Given the description of an element on the screen output the (x, y) to click on. 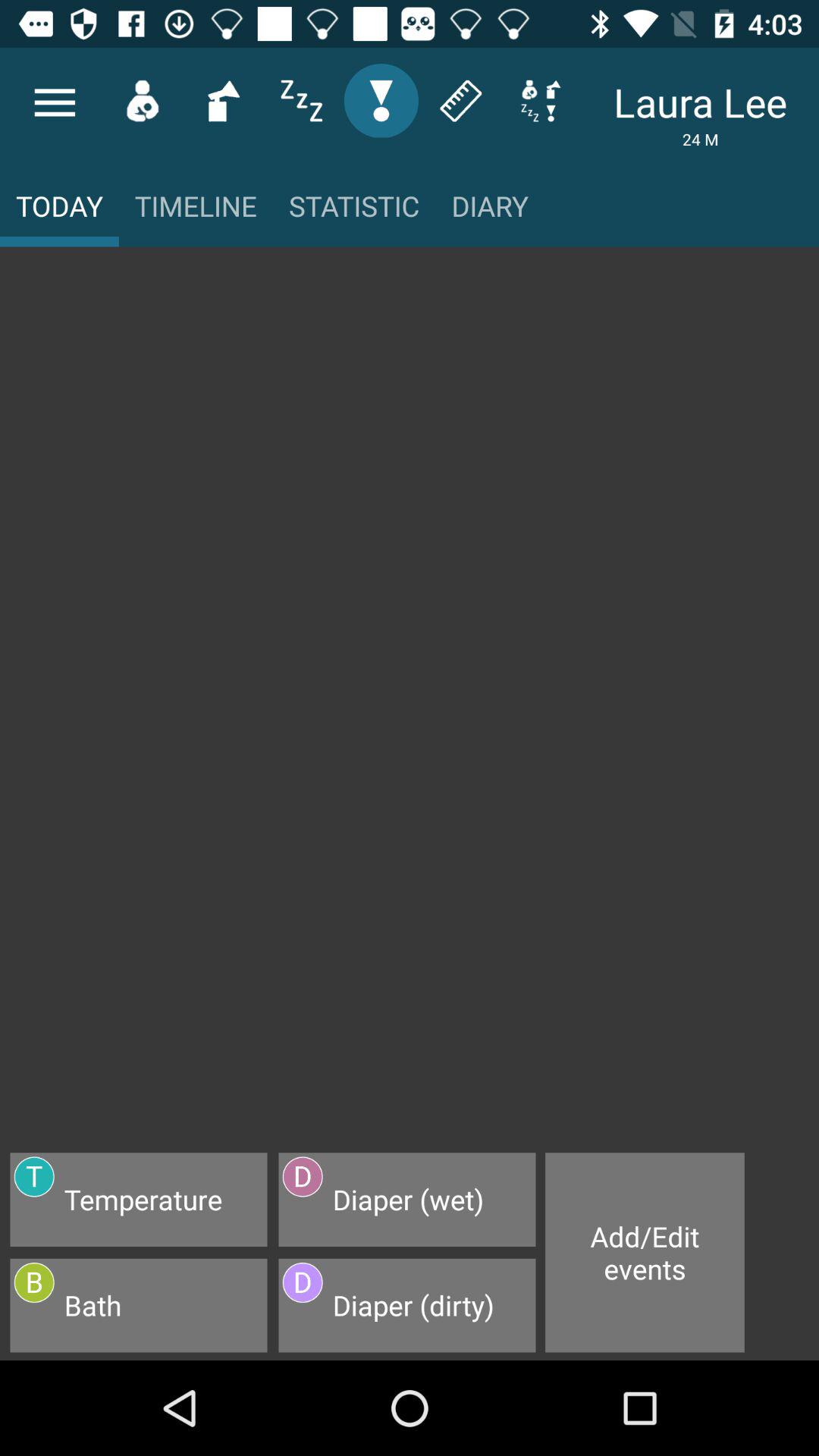
press item to the right of the diaper (wet) icon (644, 1252)
